Given the description of an element on the screen output the (x, y) to click on. 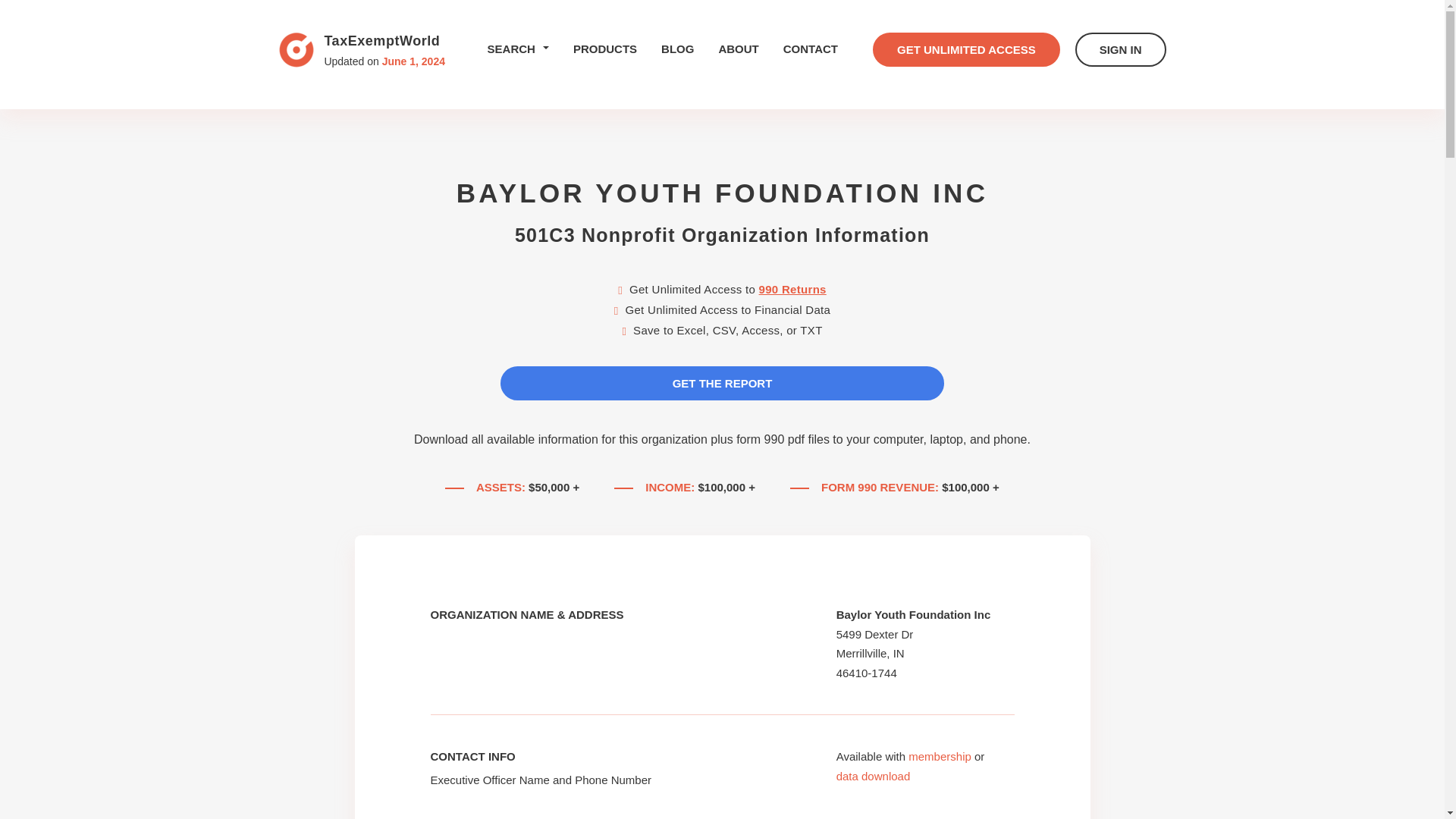
GET THE REPORT (721, 383)
PRODUCTS (605, 48)
990 Returns (792, 288)
membership (939, 756)
BLOG (677, 48)
data download (873, 775)
TaxExemptWorld.com (296, 49)
SIGN IN (1120, 49)
ABOUT (737, 48)
